Given the description of an element on the screen output the (x, y) to click on. 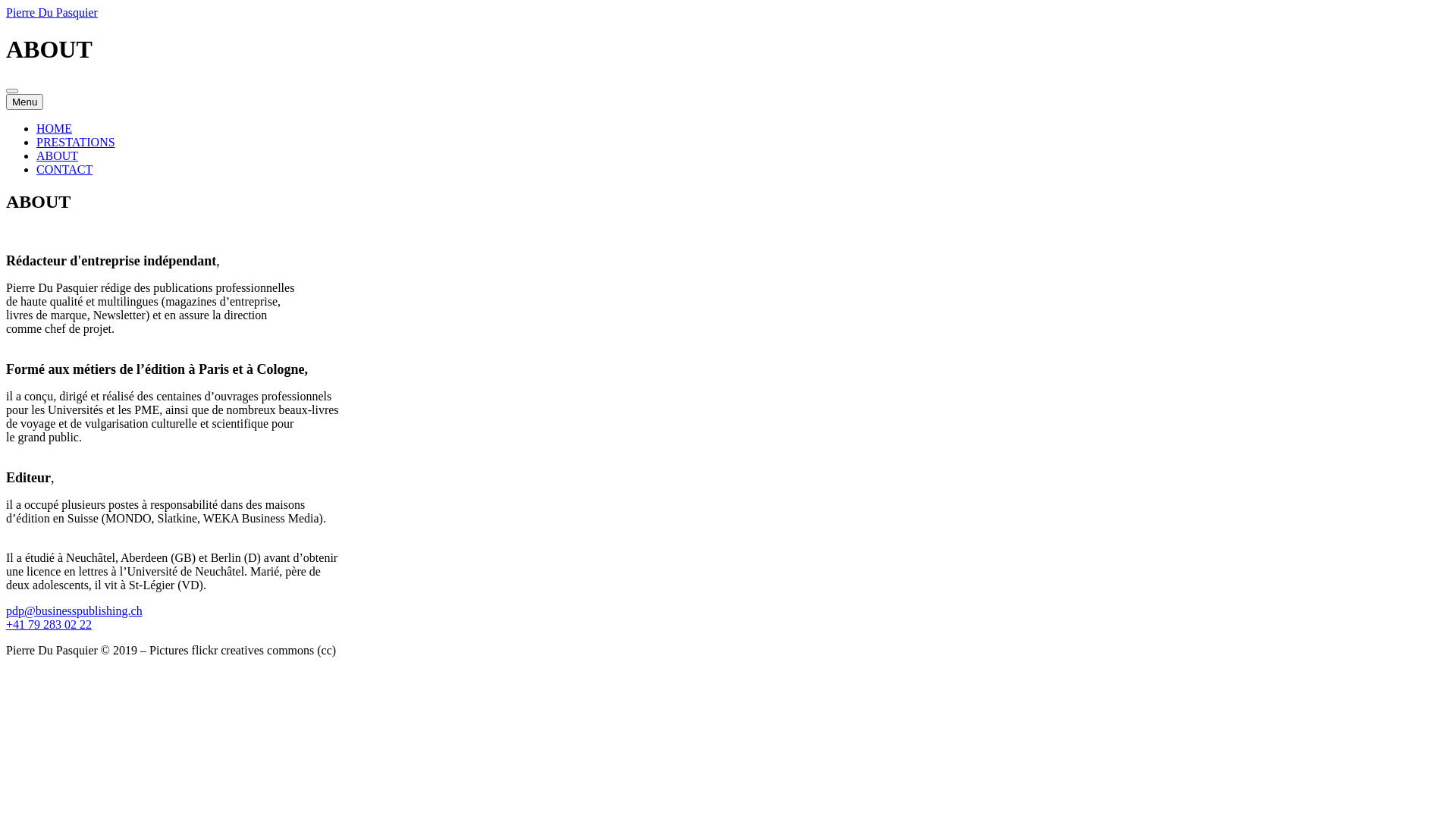
pdp@businesspublishing.ch Element type: text (74, 610)
HOME Element type: text (54, 128)
ABOUT Element type: text (57, 155)
Pierre Du Pasquier Element type: text (51, 12)
Menu Element type: text (24, 101)
CONTACT Element type: text (64, 169)
+41 79 283 02 22 Element type: text (48, 624)
PRESTATIONS Element type: text (75, 141)
